Given the description of an element on the screen output the (x, y) to click on. 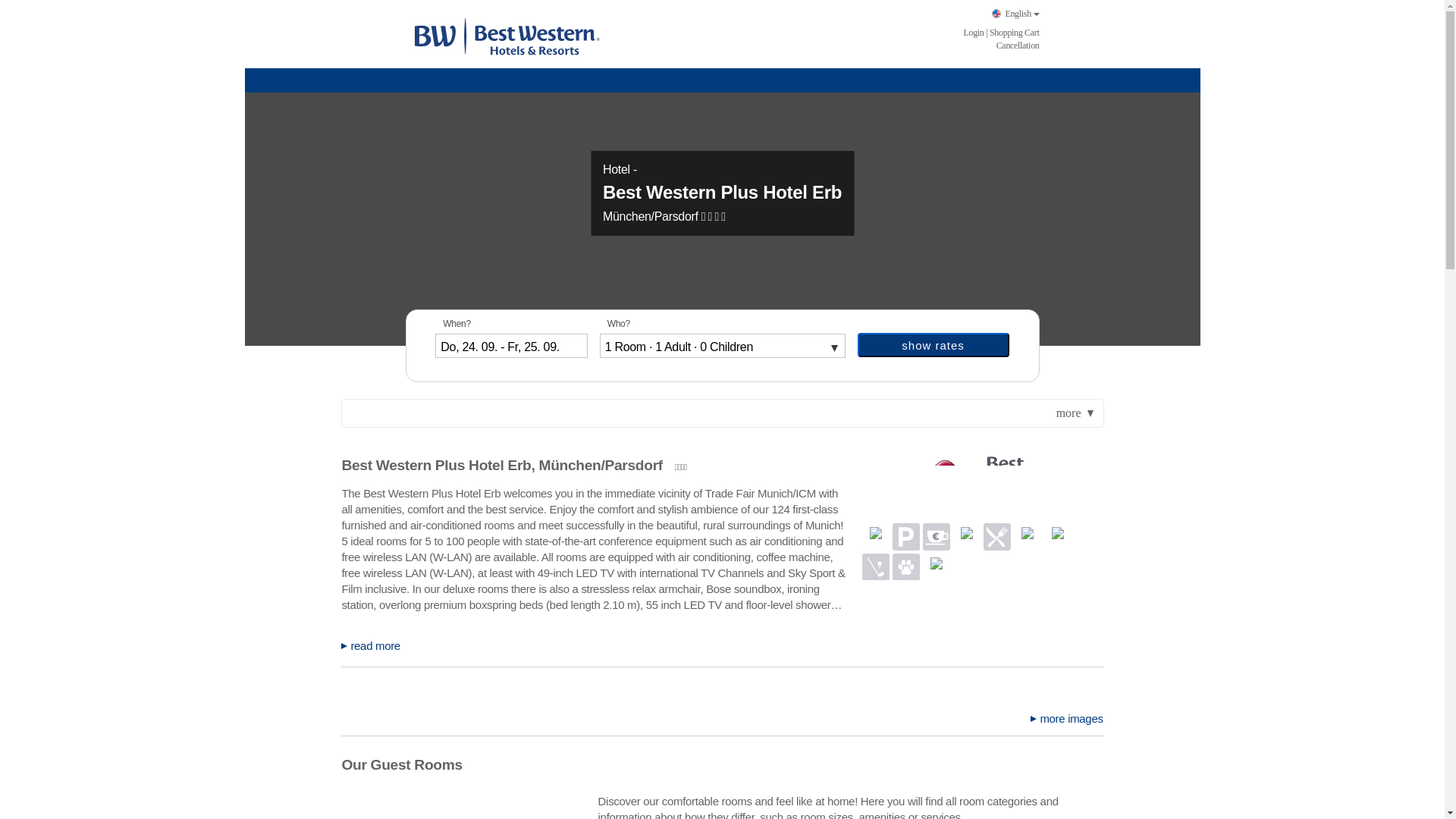
Cancellation (1017, 45)
Shopping Cart (1014, 32)
Your basket is empty.  (1014, 32)
show rates (933, 344)
Cancellation (1017, 45)
English   (1015, 13)
Login (973, 32)
Best Western Hotels (505, 35)
